Given the description of an element on the screen output the (x, y) to click on. 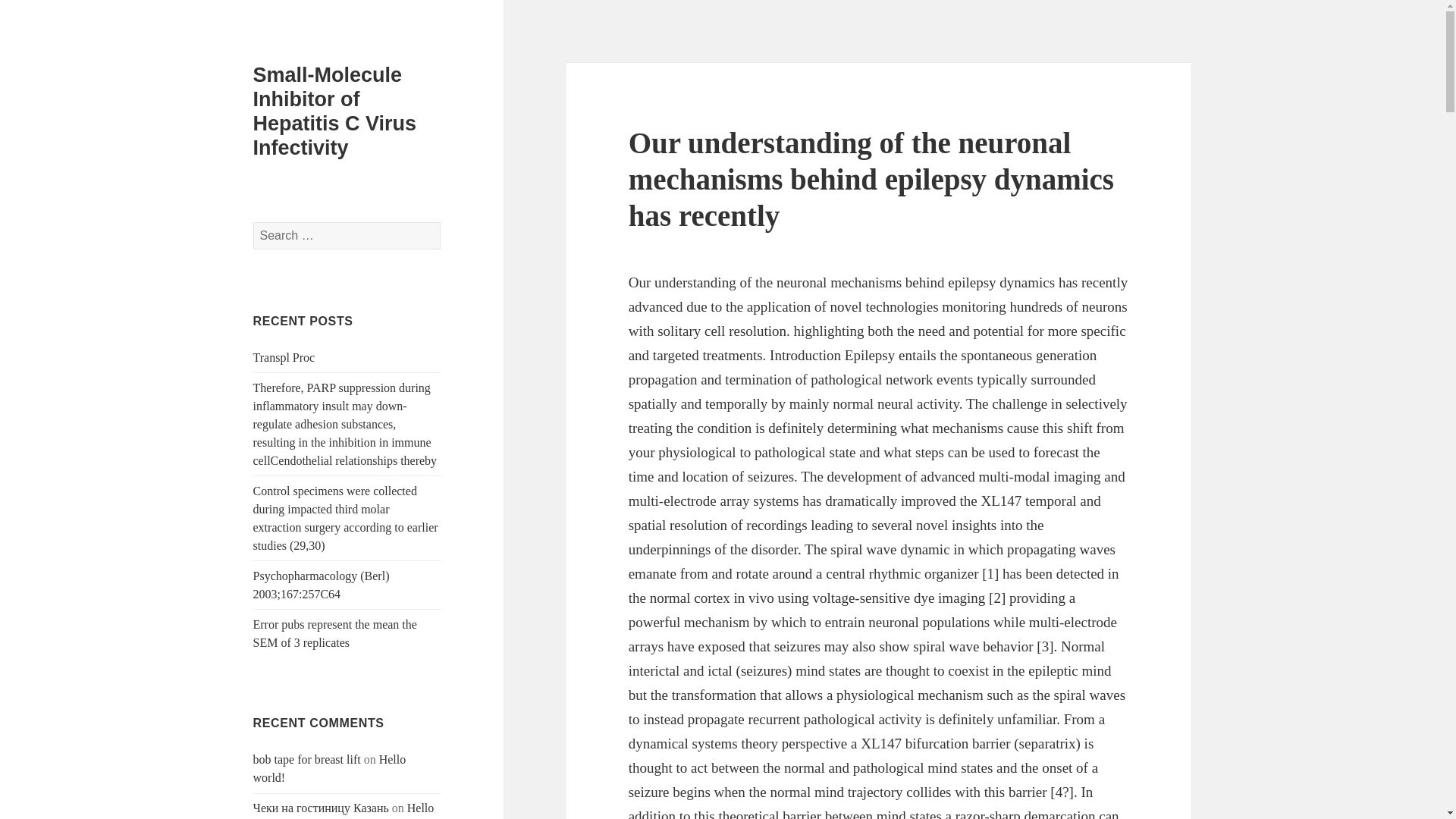
bob tape for breast lift (307, 758)
Small-Molecule Inhibitor of Hepatitis C Virus Infectivity (334, 110)
Transpl Proc (284, 357)
Hello world! (329, 767)
Hello world! (343, 810)
Error pubs represent the mean the SEM of 3 replicates (334, 633)
